Given the description of an element on the screen output the (x, y) to click on. 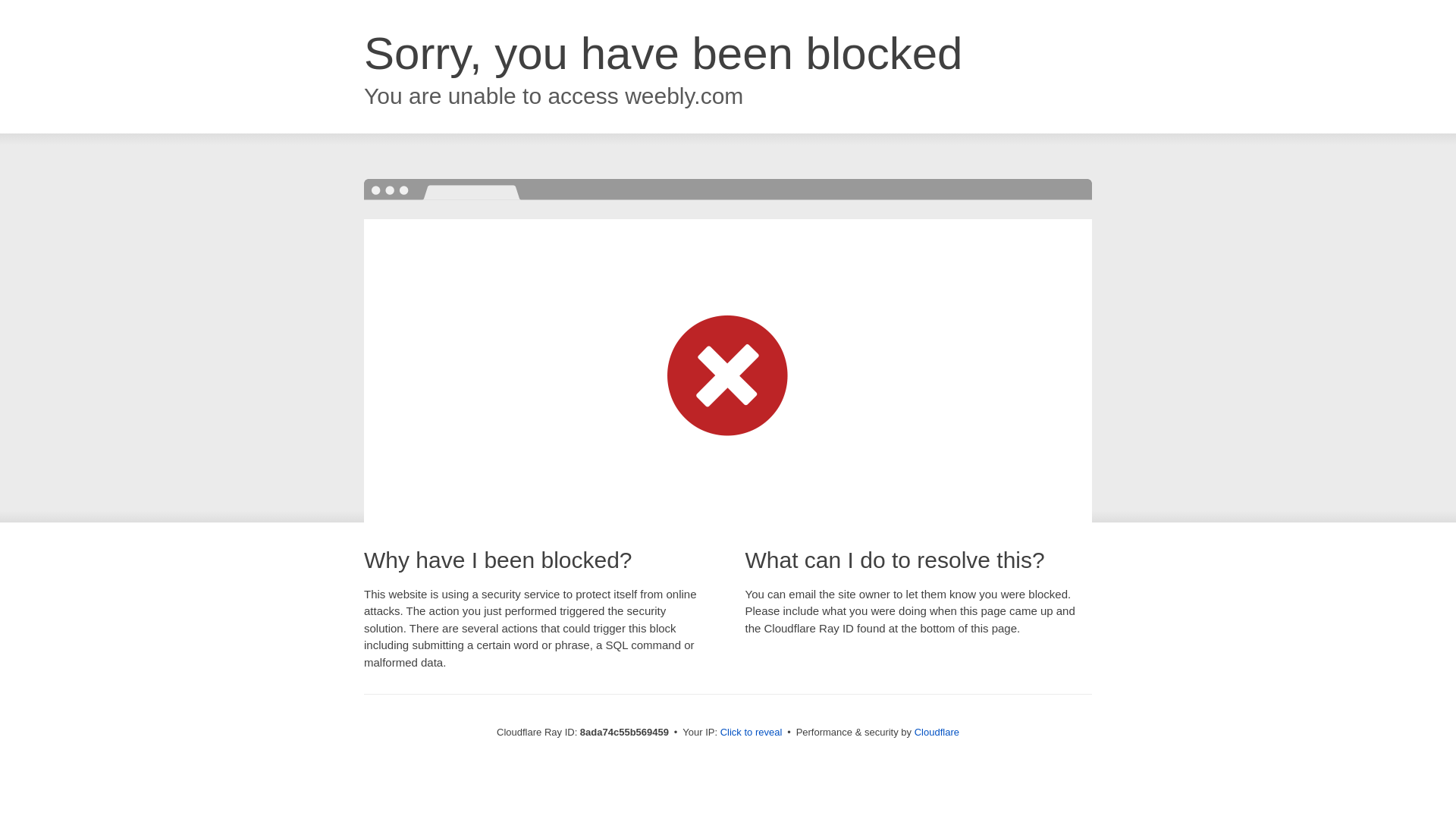
Click to reveal (751, 732)
Cloudflare (936, 731)
